Given the description of an element on the screen output the (x, y) to click on. 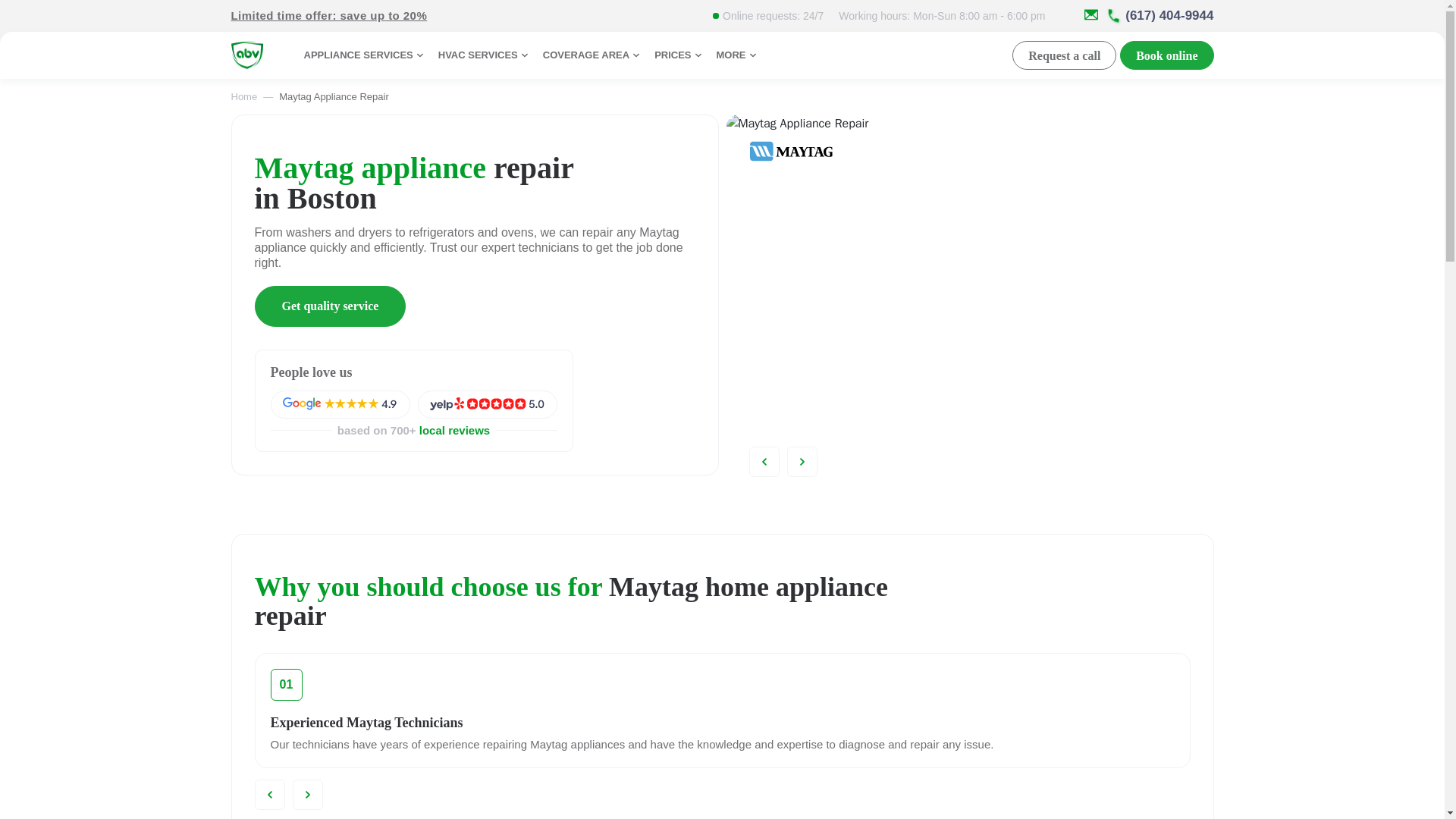
COVERAGE AREA (593, 54)
MORE (738, 54)
PRICES (678, 54)
APPLIANCE SERVICES (364, 54)
HVAC SERVICES (484, 54)
